Given the description of an element on the screen output the (x, y) to click on. 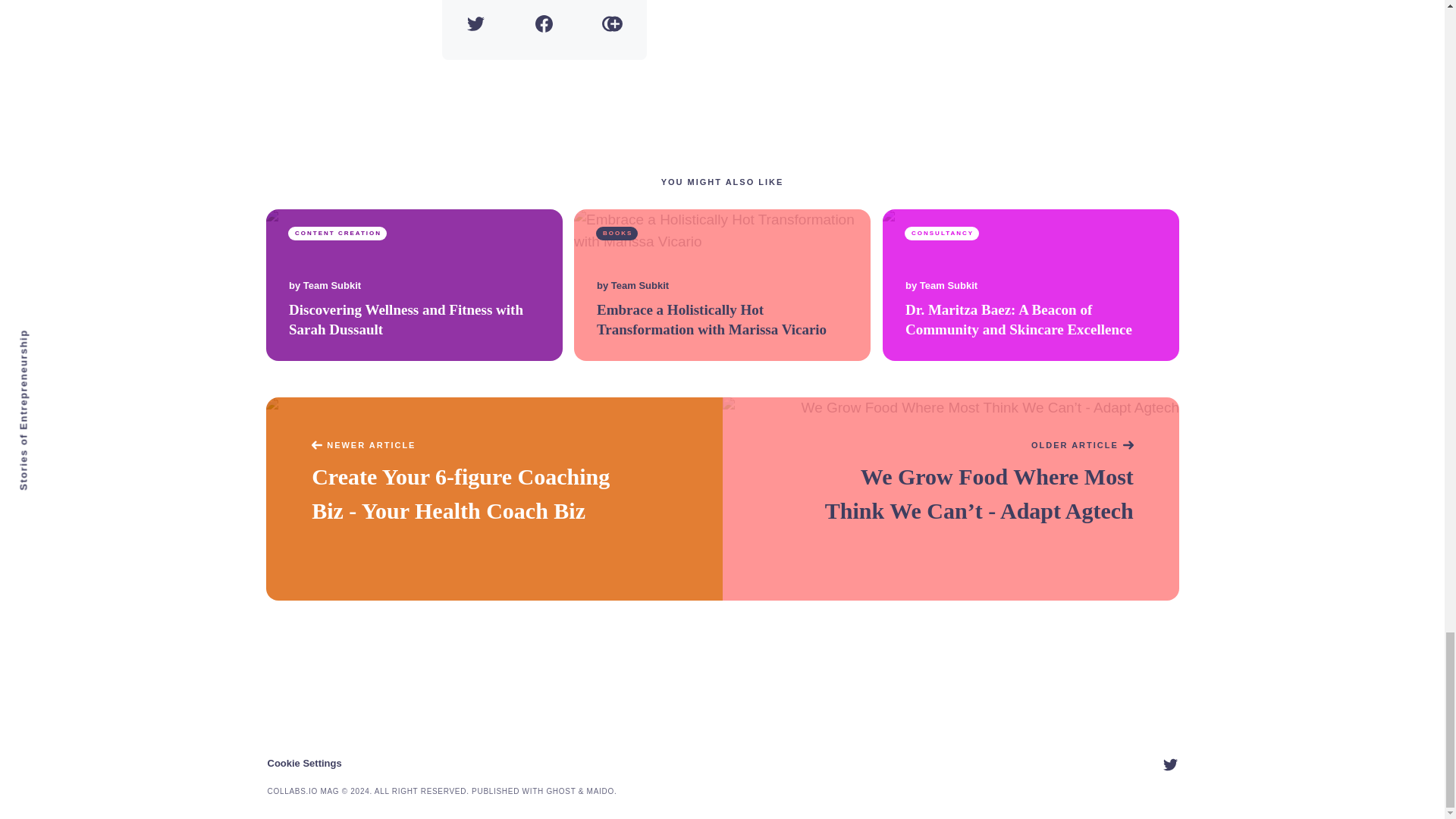
GHOST (560, 791)
Team Subkit (948, 286)
COLLABS.IO MAG (302, 791)
Cookie Settings (303, 763)
MAIDO (600, 791)
Team Subkit (639, 286)
Team Subkit (330, 286)
